Given the description of an element on the screen output the (x, y) to click on. 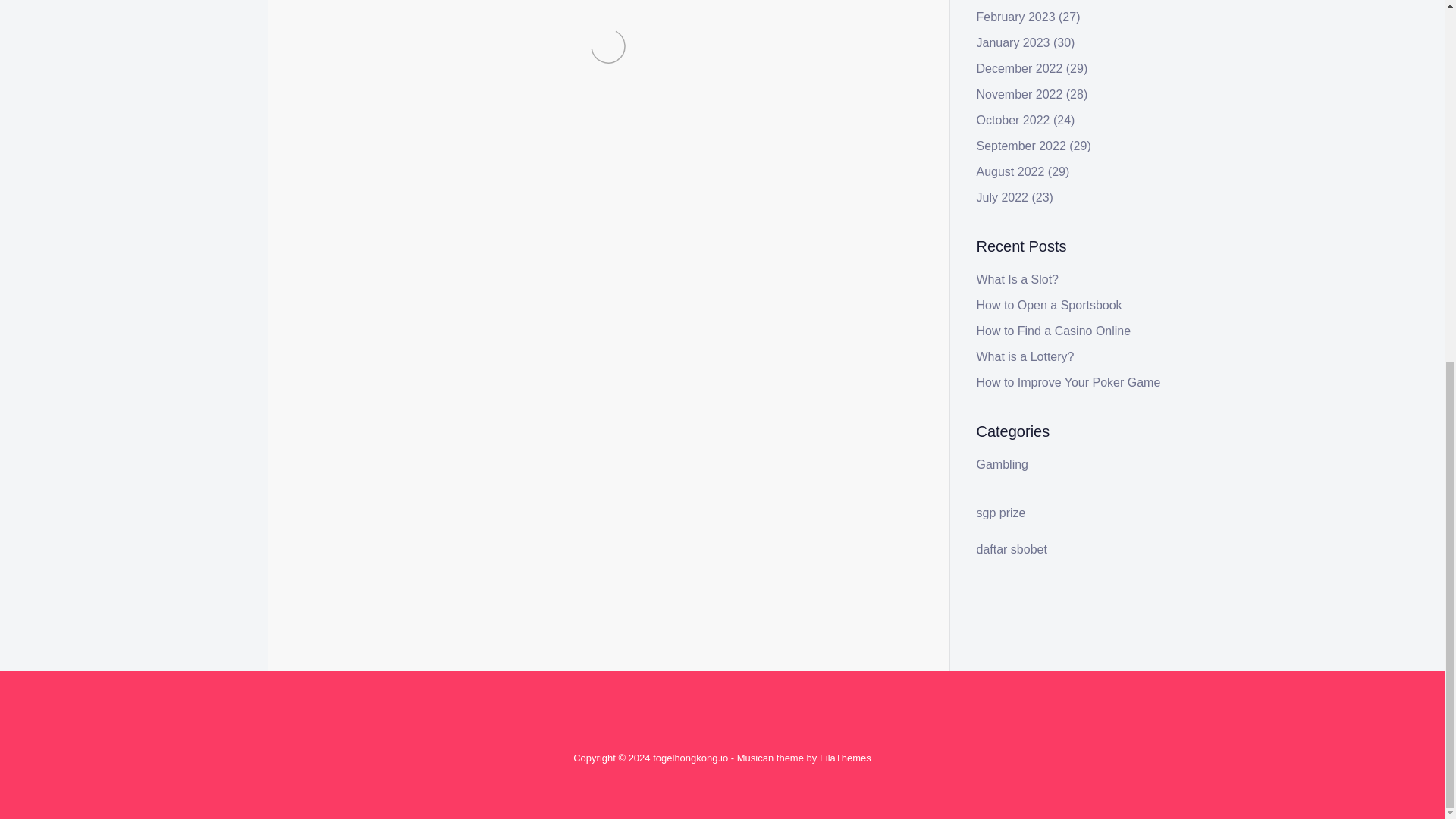
January 2023 (1012, 42)
September 2022 (1020, 145)
Gambling (1001, 463)
How to Find a Casino Online (1053, 330)
How to Open a Sportsbook (1049, 305)
How to Improve Your Poker Game (1068, 382)
What Is a Slot? (1017, 278)
October 2022 (1012, 119)
December 2022 (1019, 68)
What is a Lottery? (1025, 356)
togelhongkong.io (690, 757)
July 2022 (1002, 196)
August 2022 (1010, 171)
November 2022 (1019, 93)
Gambling (376, 337)
